Given the description of an element on the screen output the (x, y) to click on. 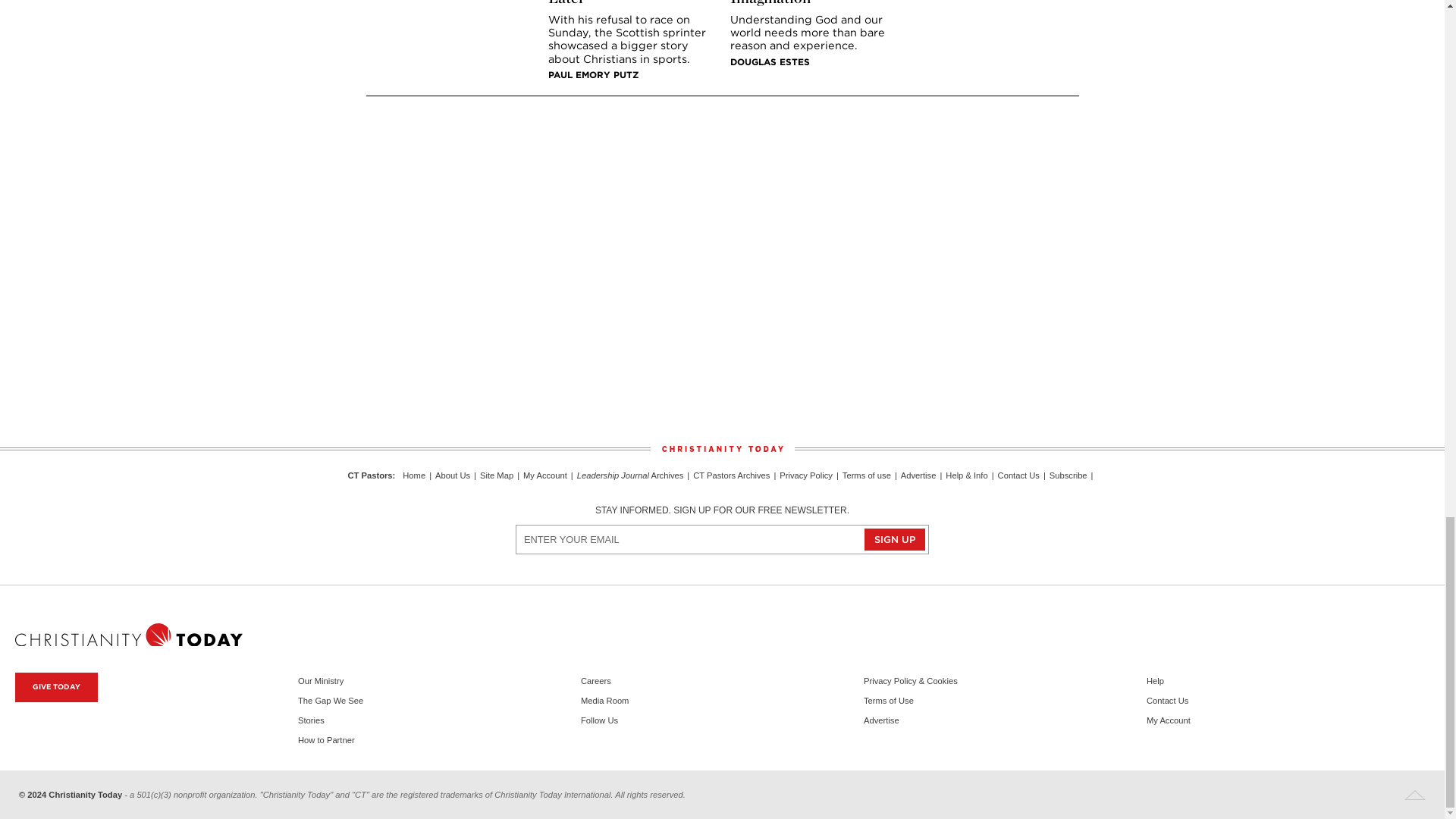
Sign Up (894, 539)
